Given the description of an element on the screen output the (x, y) to click on. 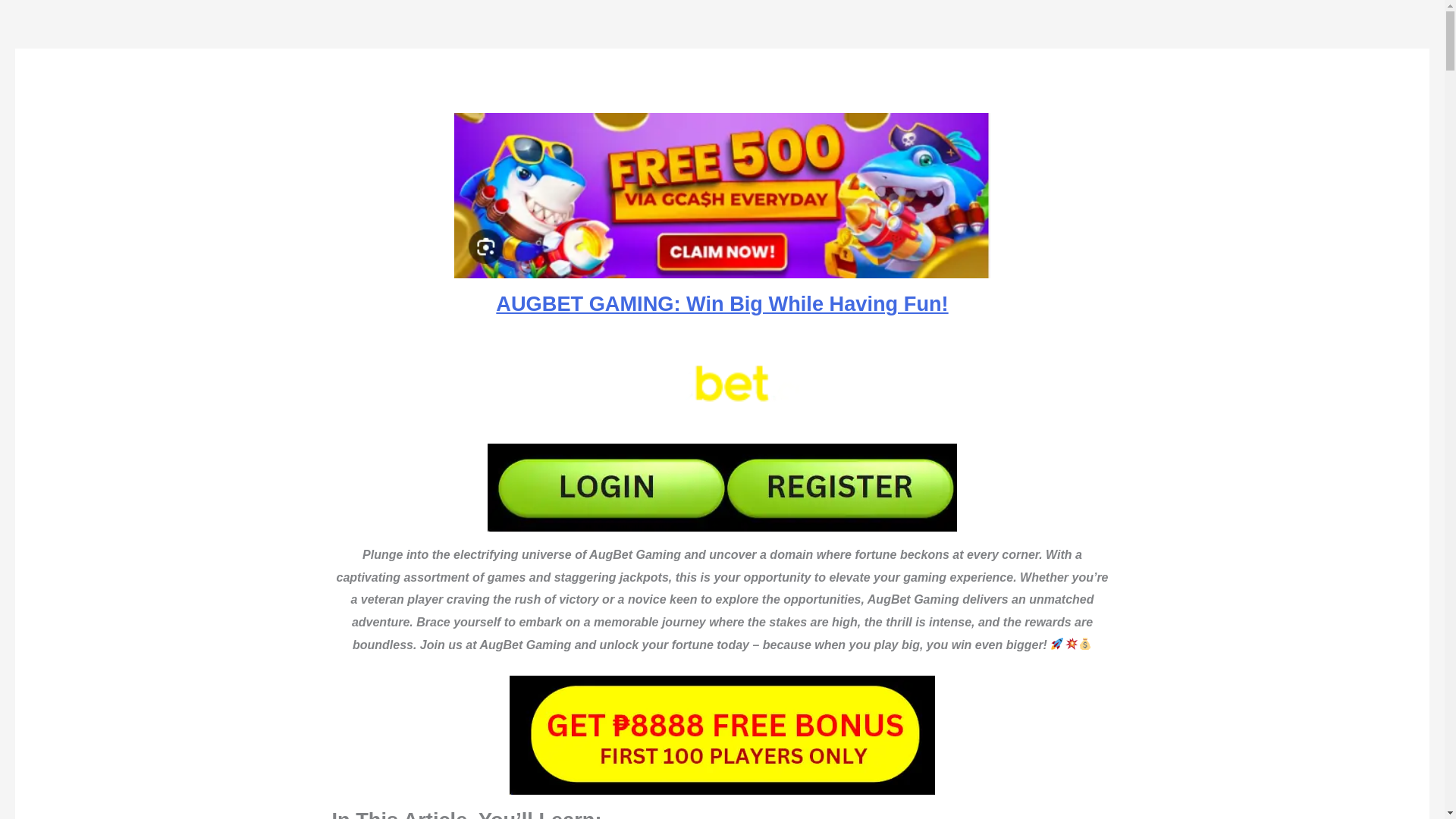
AUGBET GAMING: Win Big While Having Fun! (721, 303)
